Given the description of an element on the screen output the (x, y) to click on. 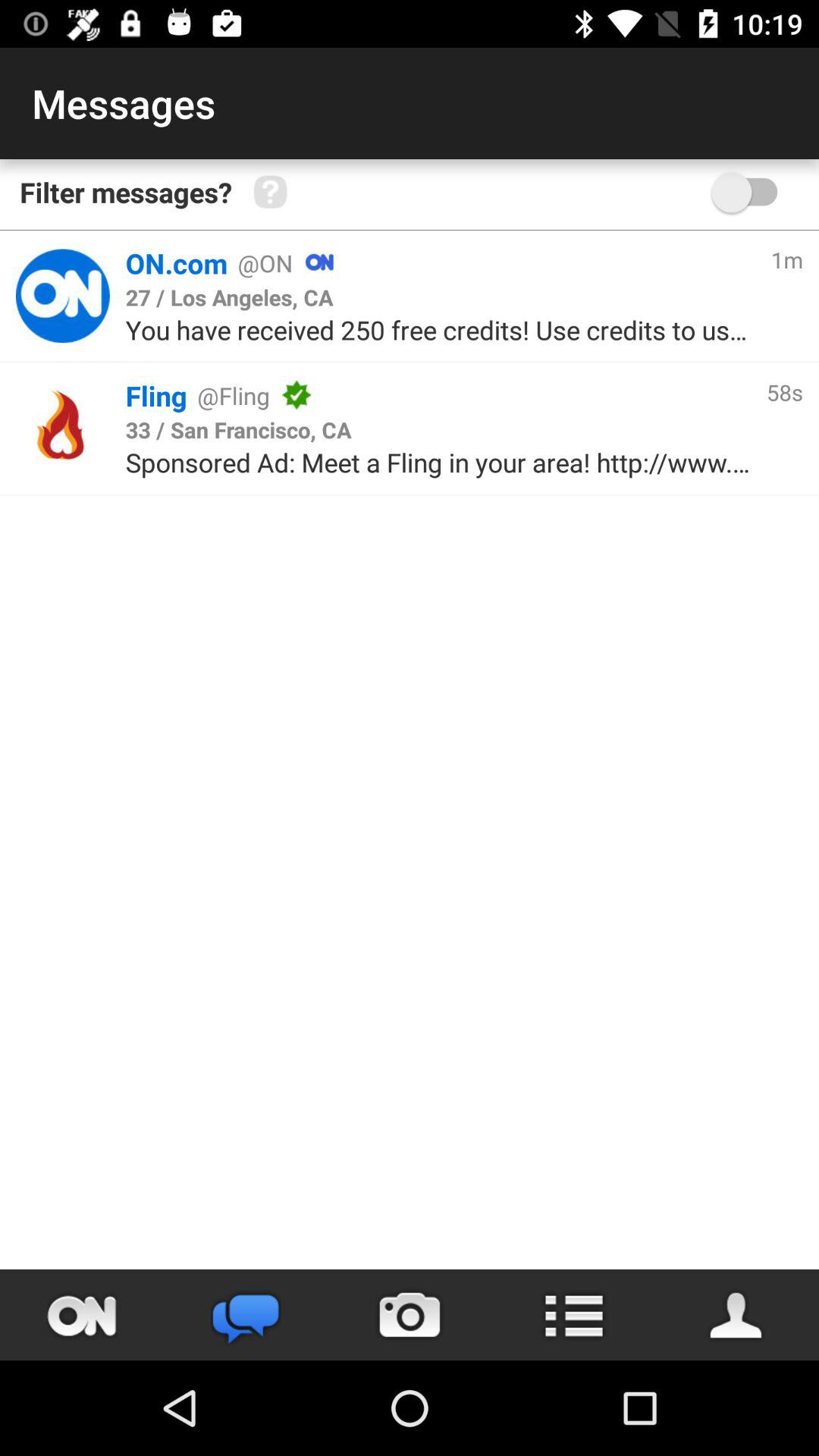
select item above 58s (787, 259)
